Given the description of an element on the screen output the (x, y) to click on. 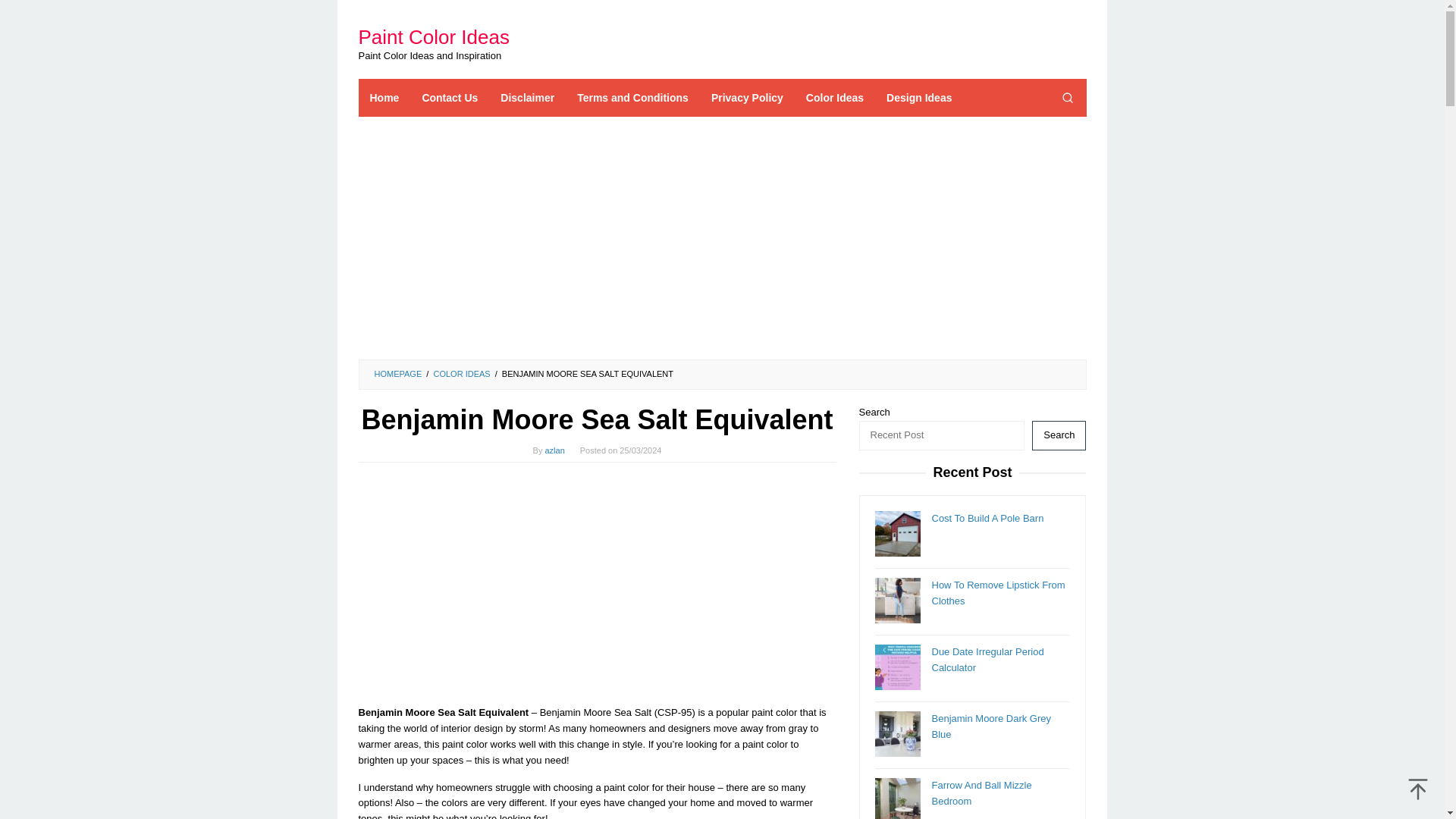
HOMEPAGE (398, 373)
How To Remove Lipstick From Clothes (997, 592)
Terms and Conditions (633, 97)
Privacy Policy (747, 97)
Cost To Build A Pole Barn (987, 518)
Permalink to: azlan (554, 450)
Home (384, 97)
Advertisement (596, 583)
Color Ideas (834, 97)
Paint Color Ideas (433, 36)
Search (1059, 435)
Farrow And Ball Mizzle Bedroom (980, 792)
Disclaimer (527, 97)
Design Ideas (918, 97)
azlan (554, 450)
